Given the description of an element on the screen output the (x, y) to click on. 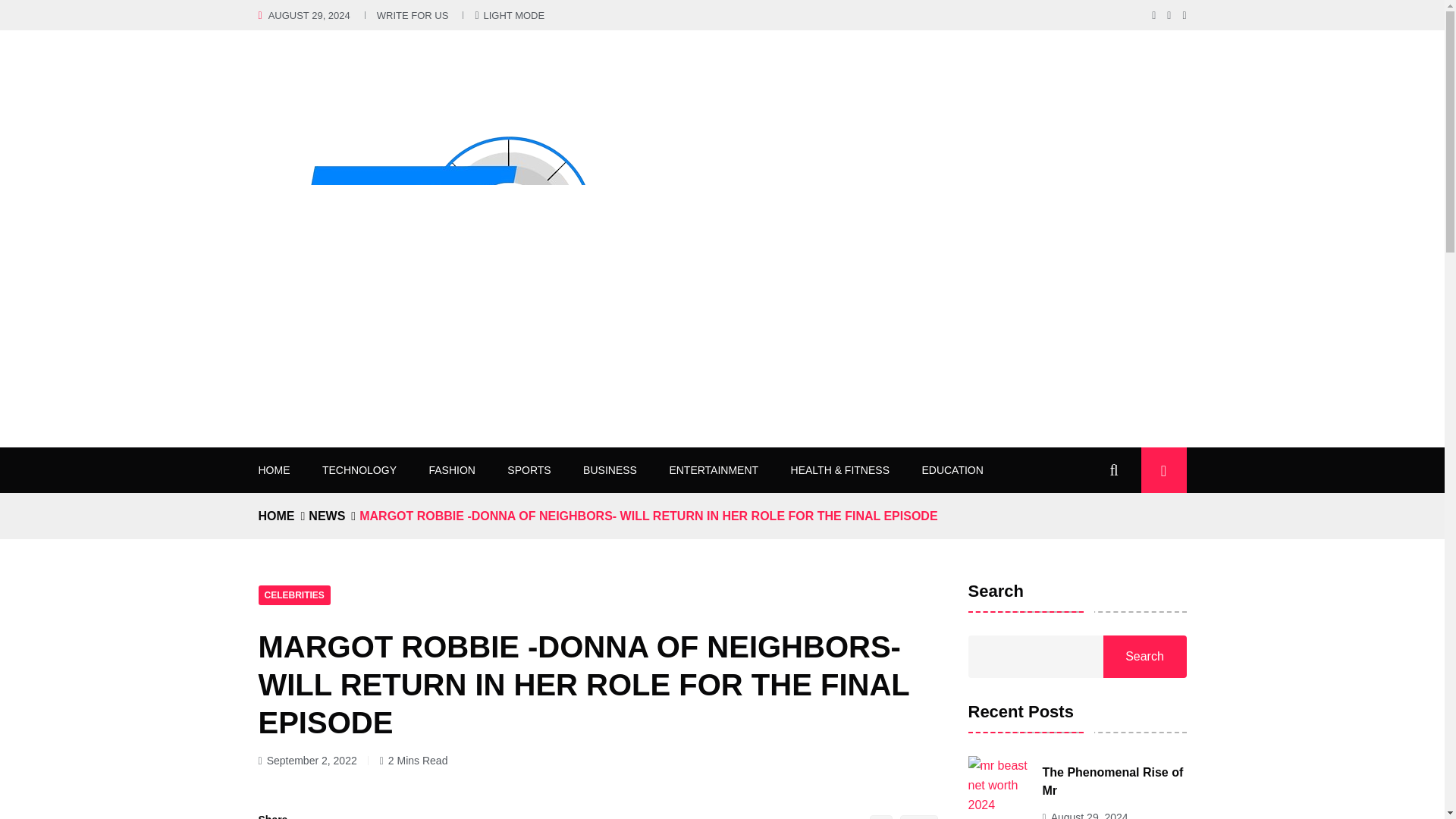
FASHION (451, 470)
WRITE FOR US (412, 15)
TECHNOLOGY (358, 470)
SPORTS (528, 470)
LIGHT MODE (509, 15)
Home (275, 515)
AUGUST 29, 2024 (308, 15)
